Given the description of an element on the screen output the (x, y) to click on. 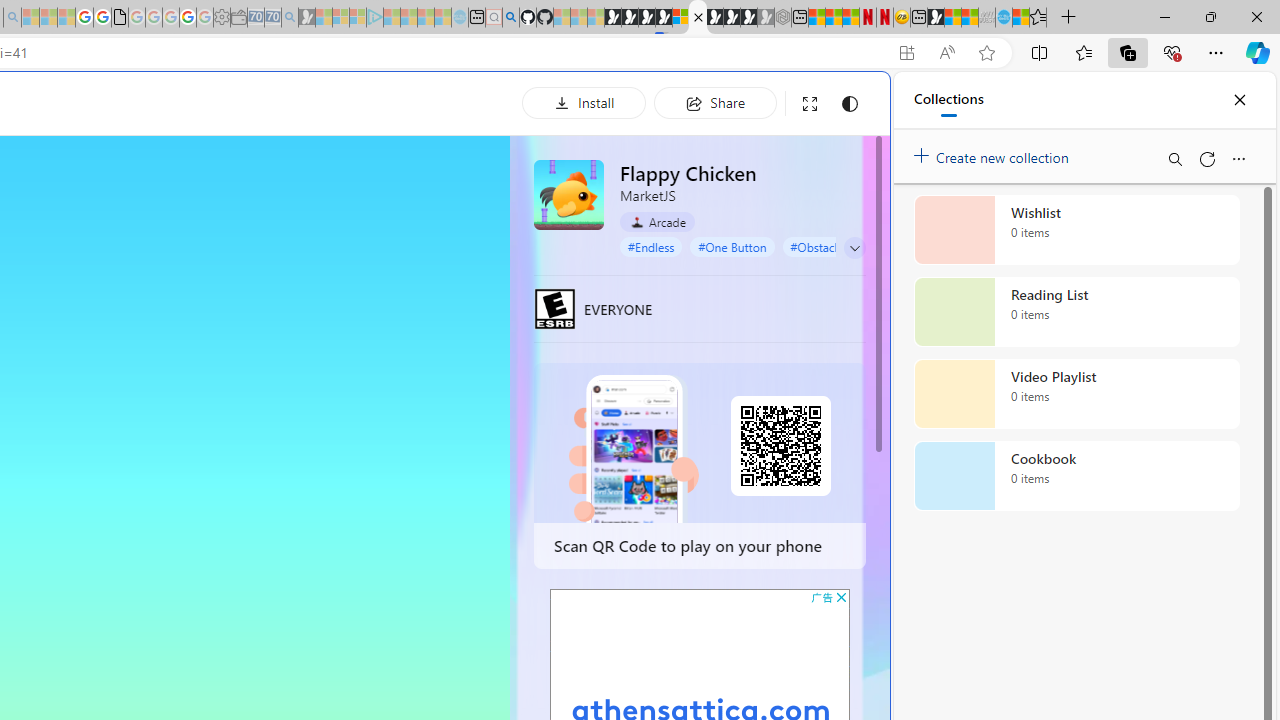
Share (715, 102)
Install (583, 102)
EVERYONE (554, 308)
